Given the description of an element on the screen output the (x, y) to click on. 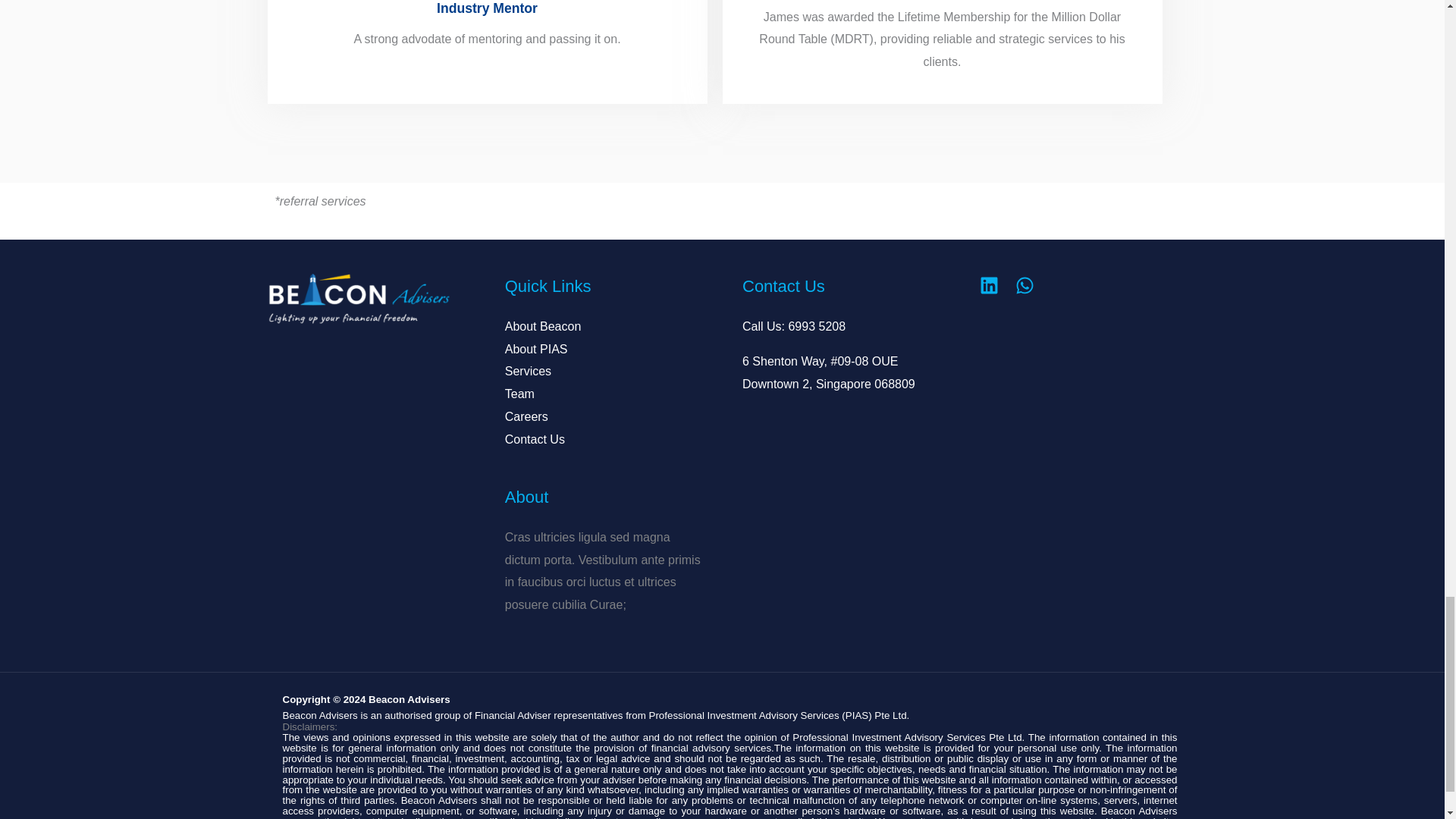
Services (528, 370)
About PIAS (536, 349)
Team (519, 393)
About Beacon (542, 326)
